Given the description of an element on the screen output the (x, y) to click on. 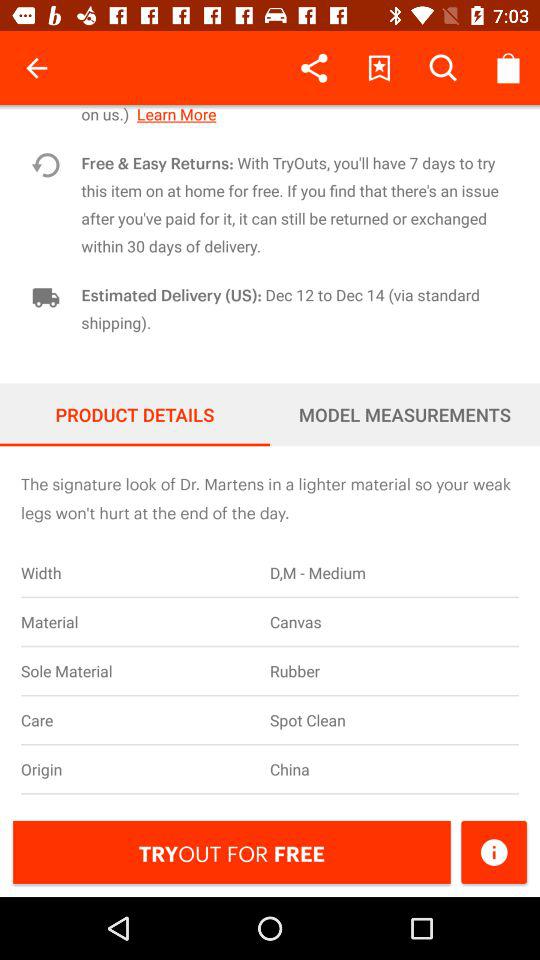
more info (493, 851)
